Given the description of an element on the screen output the (x, y) to click on. 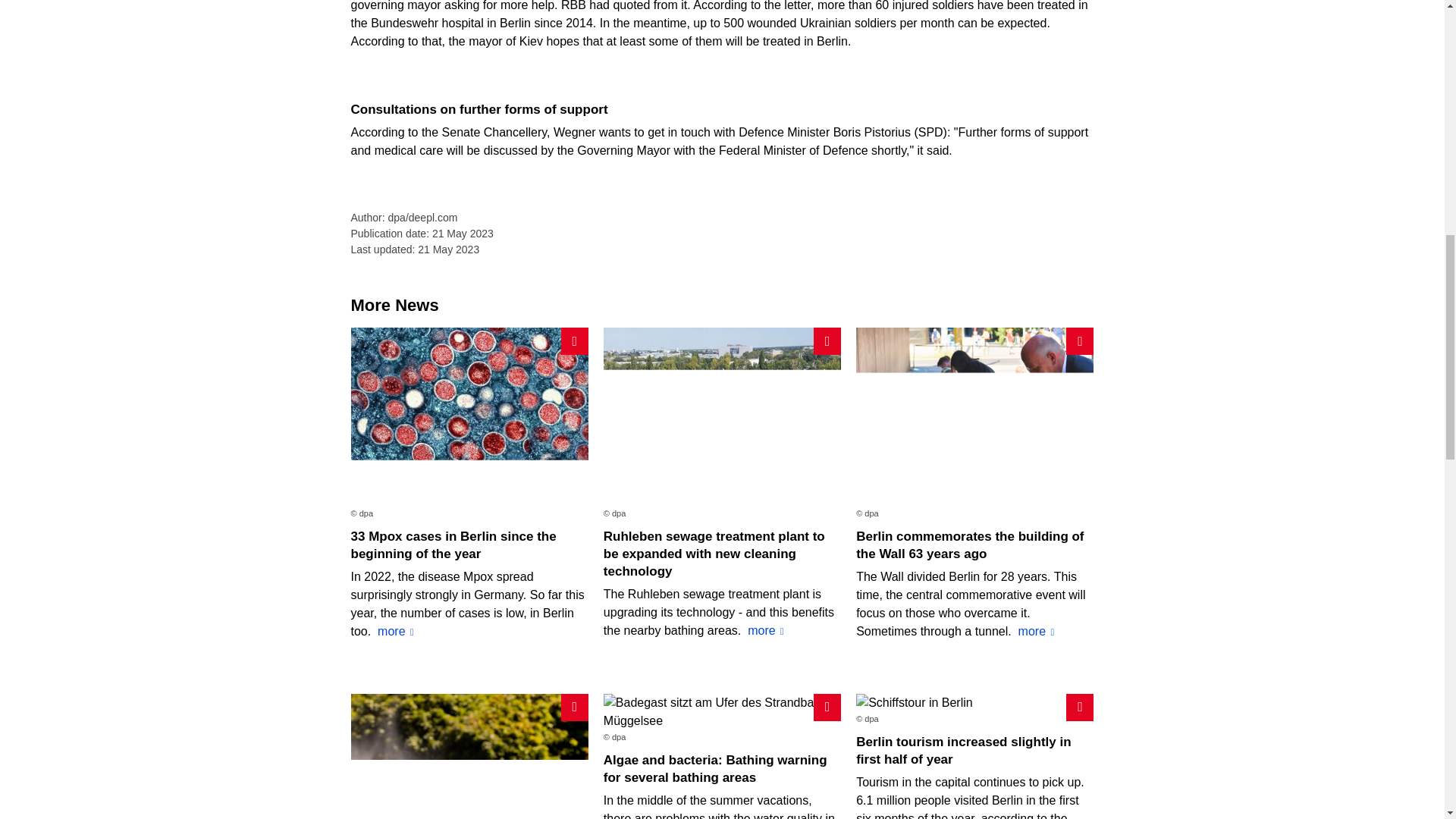
more (766, 630)
more (1035, 631)
Berlin tourism increased slightly in first half of year (963, 750)
Berlin commemorates the building of the Wall 63 years ago (969, 545)
33 Mpox cases in Berlin since the beginning of the year (453, 545)
more (395, 631)
